Given the description of an element on the screen output the (x, y) to click on. 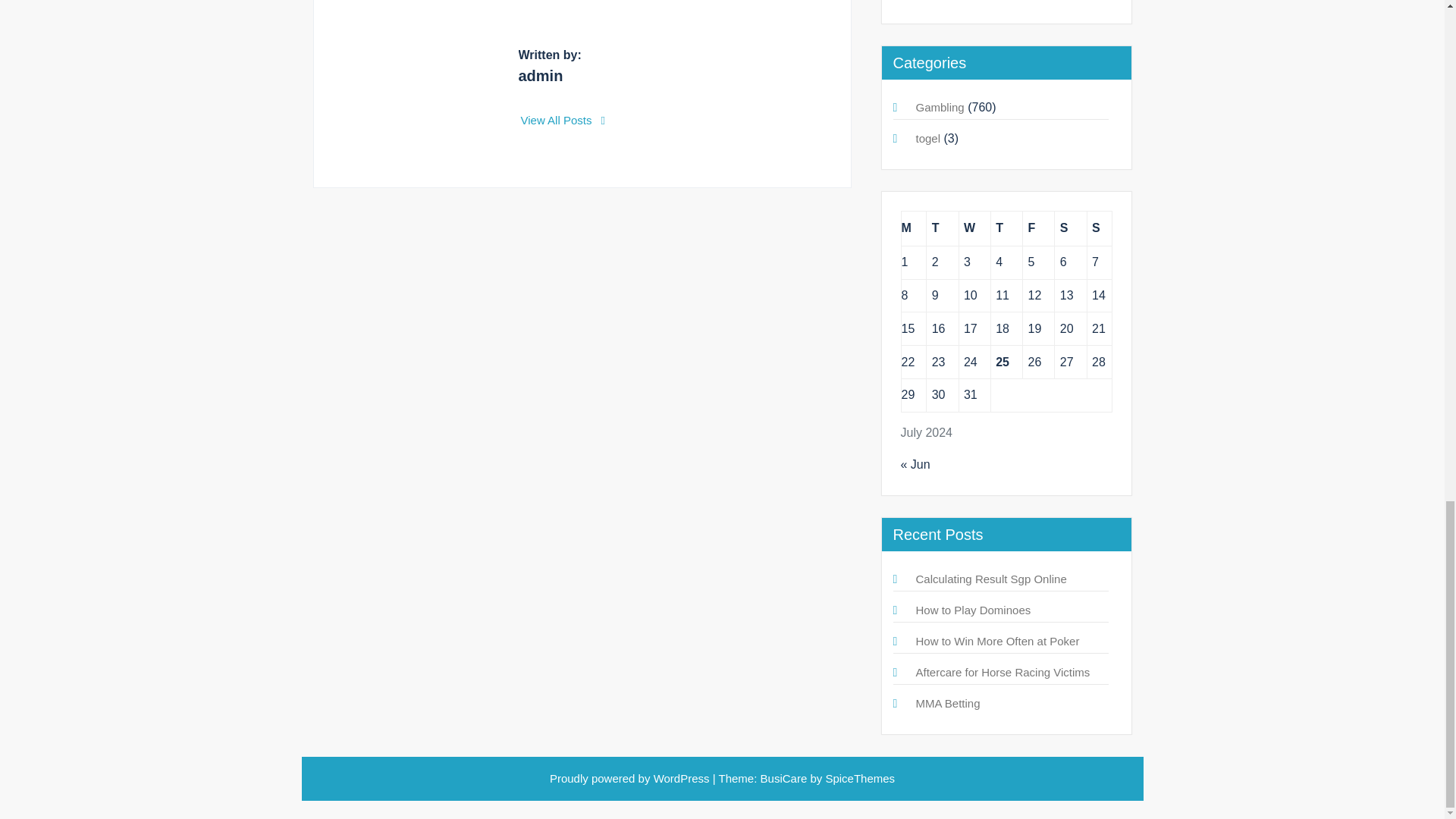
Wednesday (974, 228)
Tuesday (942, 228)
togel (927, 137)
Gambling (939, 106)
Saturday (1070, 228)
Friday (1038, 228)
Thursday (1006, 228)
View All Posts (562, 119)
